Given the description of an element on the screen output the (x, y) to click on. 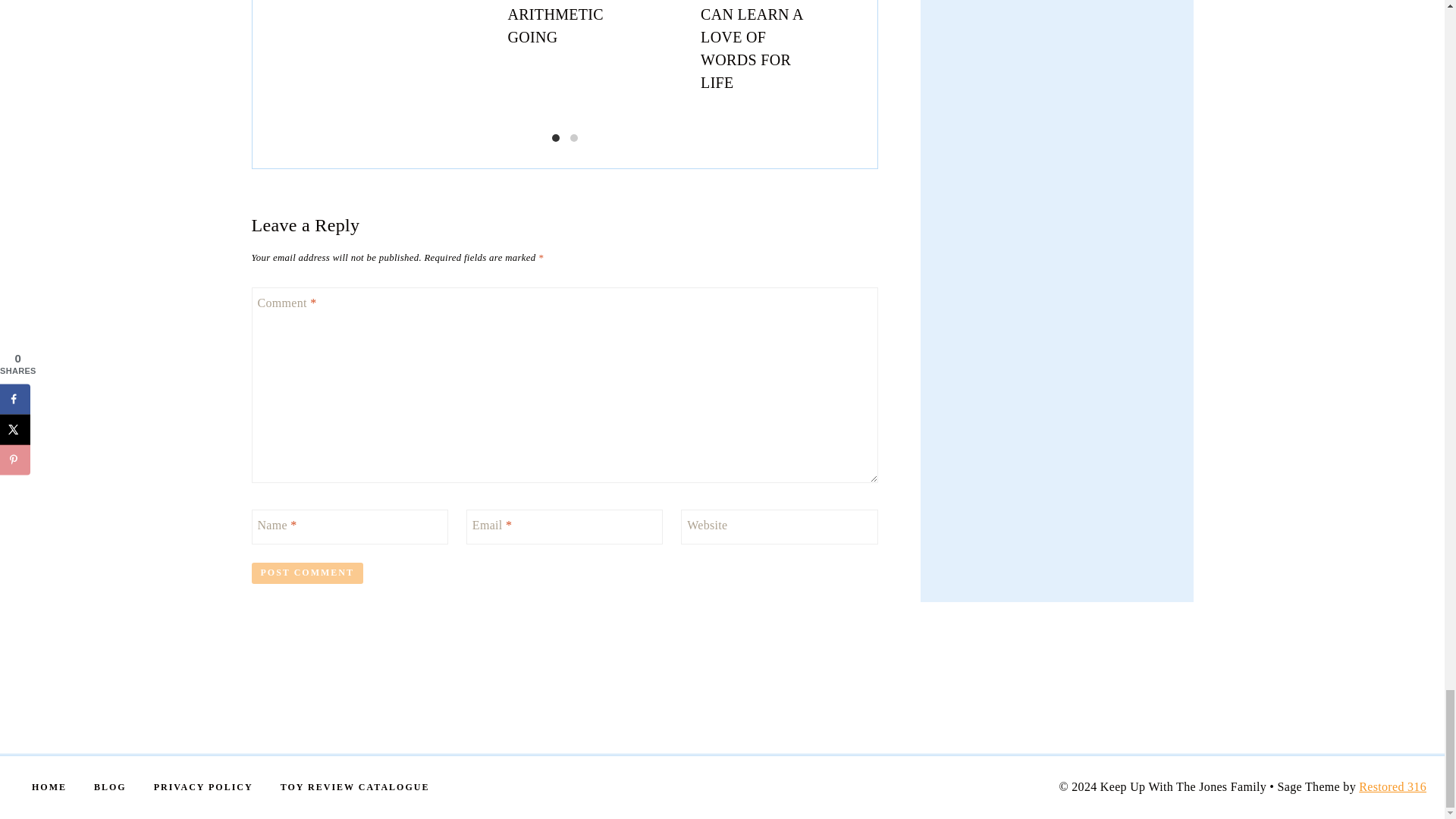
Post Comment (306, 573)
